Given the description of an element on the screen output the (x, y) to click on. 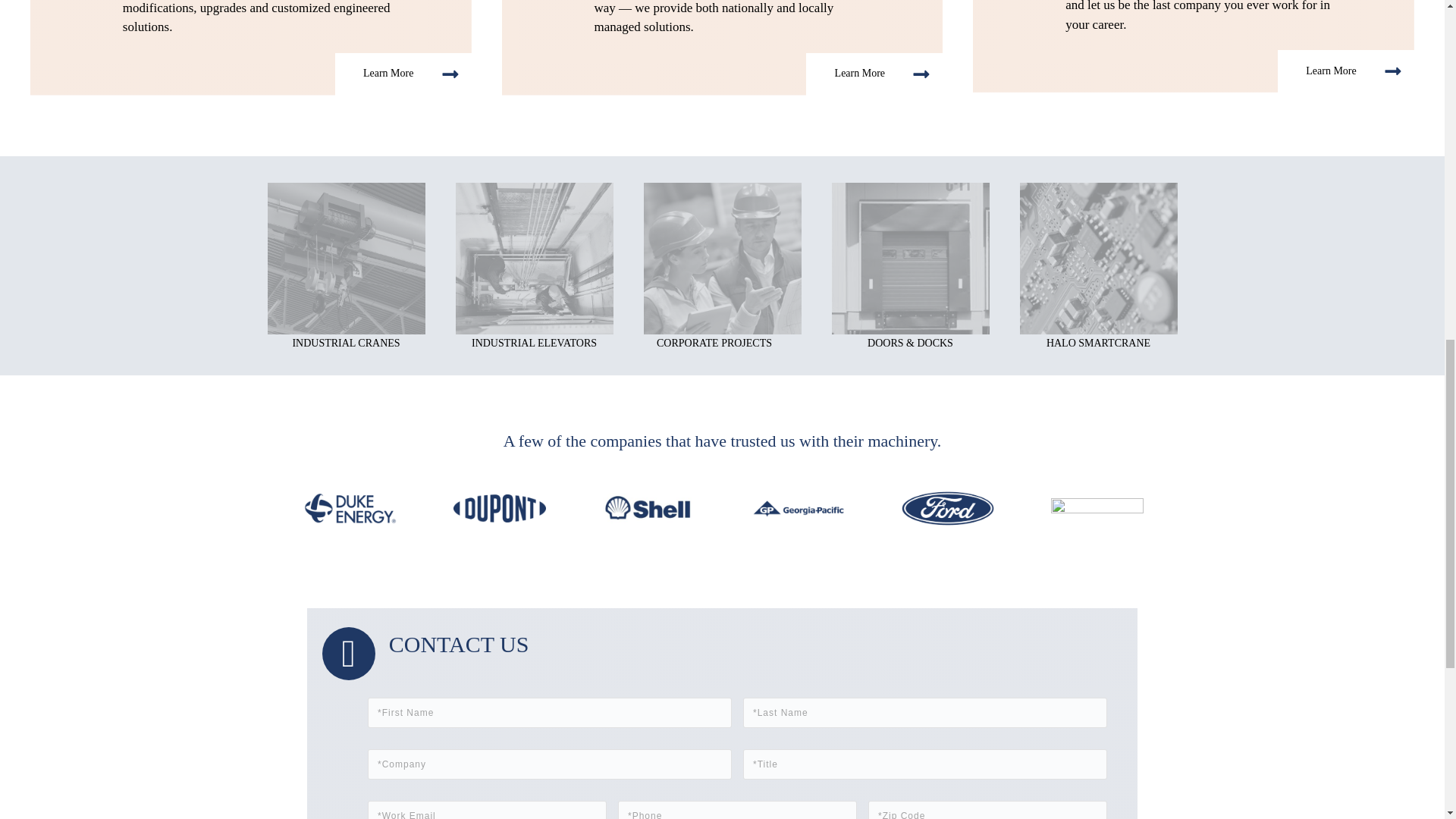
Corporate-Projects-HomePage (721, 261)
doors-docks-homepage (909, 261)
